Given the description of an element on the screen output the (x, y) to click on. 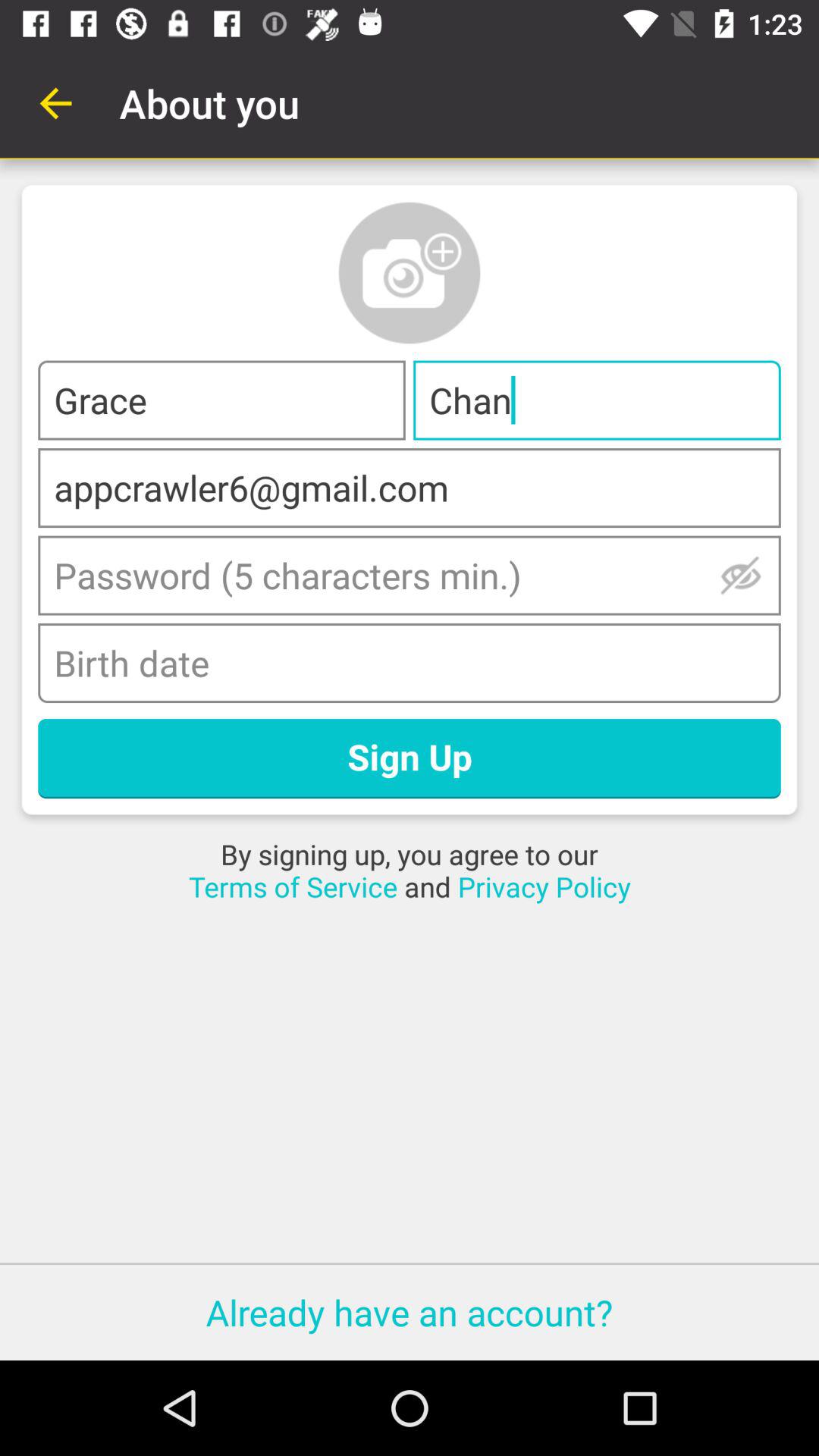
field for password (409, 575)
